Given the description of an element on the screen output the (x, y) to click on. 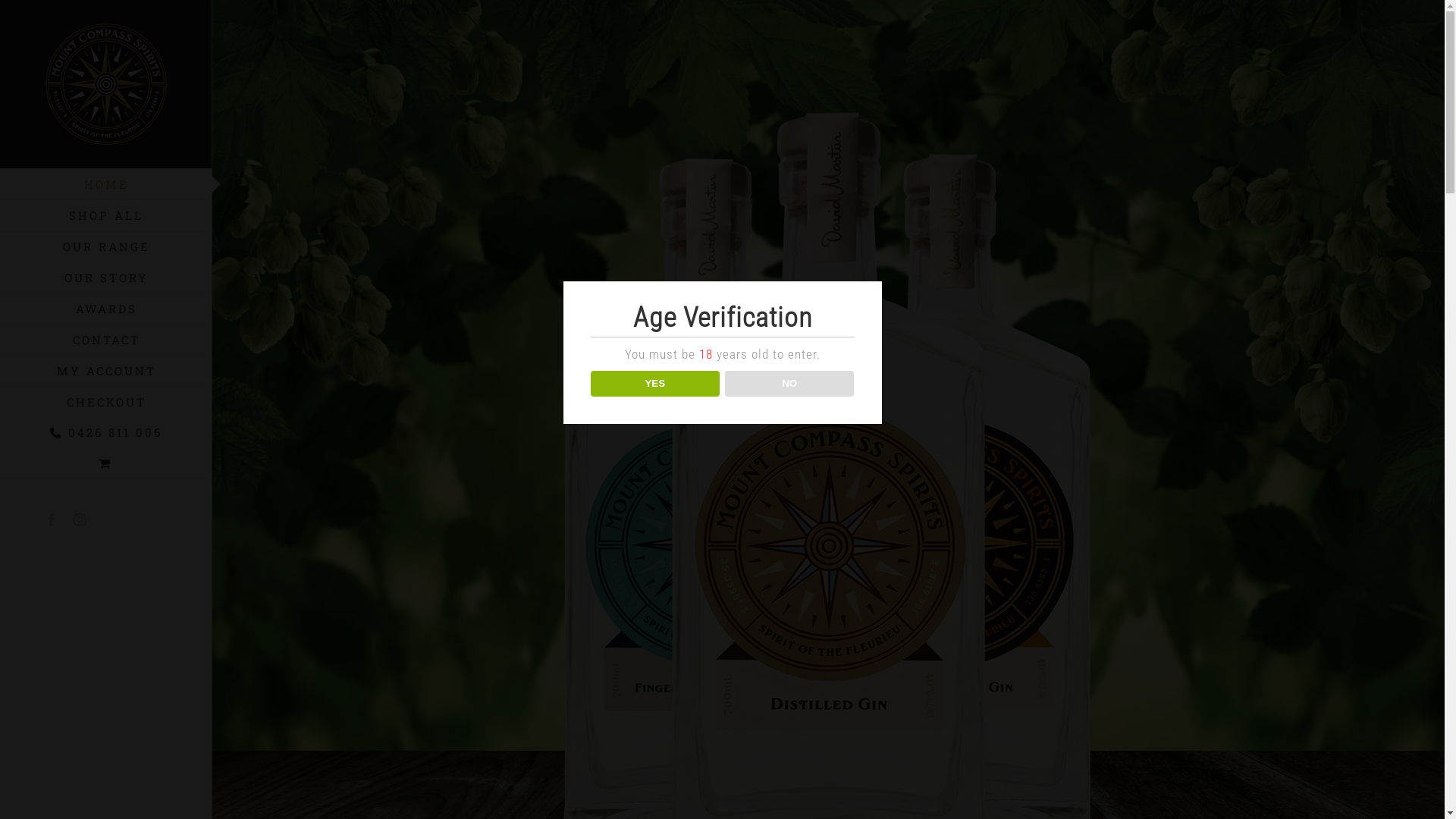
AWARDS Element type: text (106, 308)
Facebook Element type: text (51, 519)
0426 811 006 Element type: text (106, 432)
HOME Element type: text (106, 184)
SHOP ALL Element type: text (106, 215)
Instagram Element type: text (79, 519)
YES Element type: text (655, 383)
CHECKOUT Element type: text (106, 401)
MY ACCOUNT Element type: text (106, 370)
OUR RANGE Element type: text (106, 246)
OUR STORY Element type: text (106, 277)
CONTACT Element type: text (106, 339)
NO Element type: text (789, 383)
